Given the description of an element on the screen output the (x, y) to click on. 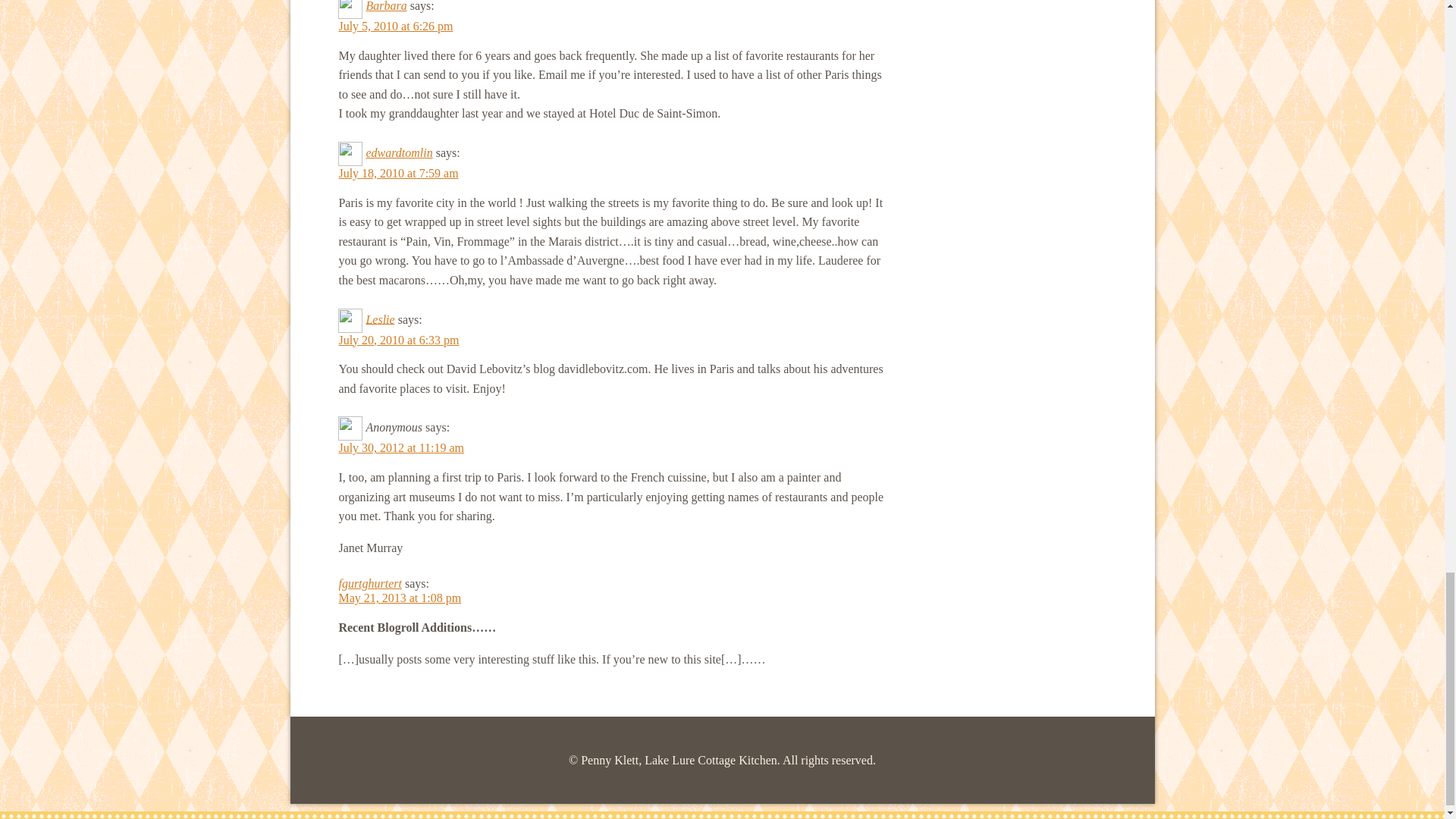
July 20, 2010 at 6:33 pm (397, 339)
edwardtomlin (398, 152)
fgurtghurtert (369, 583)
May 21, 2013 at 1:08 pm (399, 597)
July 18, 2010 at 7:59 am (397, 173)
July 30, 2012 at 11:19 am (400, 447)
Leslie (379, 318)
July 5, 2010 at 6:26 pm (394, 25)
Barbara (385, 6)
